Given the description of an element on the screen output the (x, y) to click on. 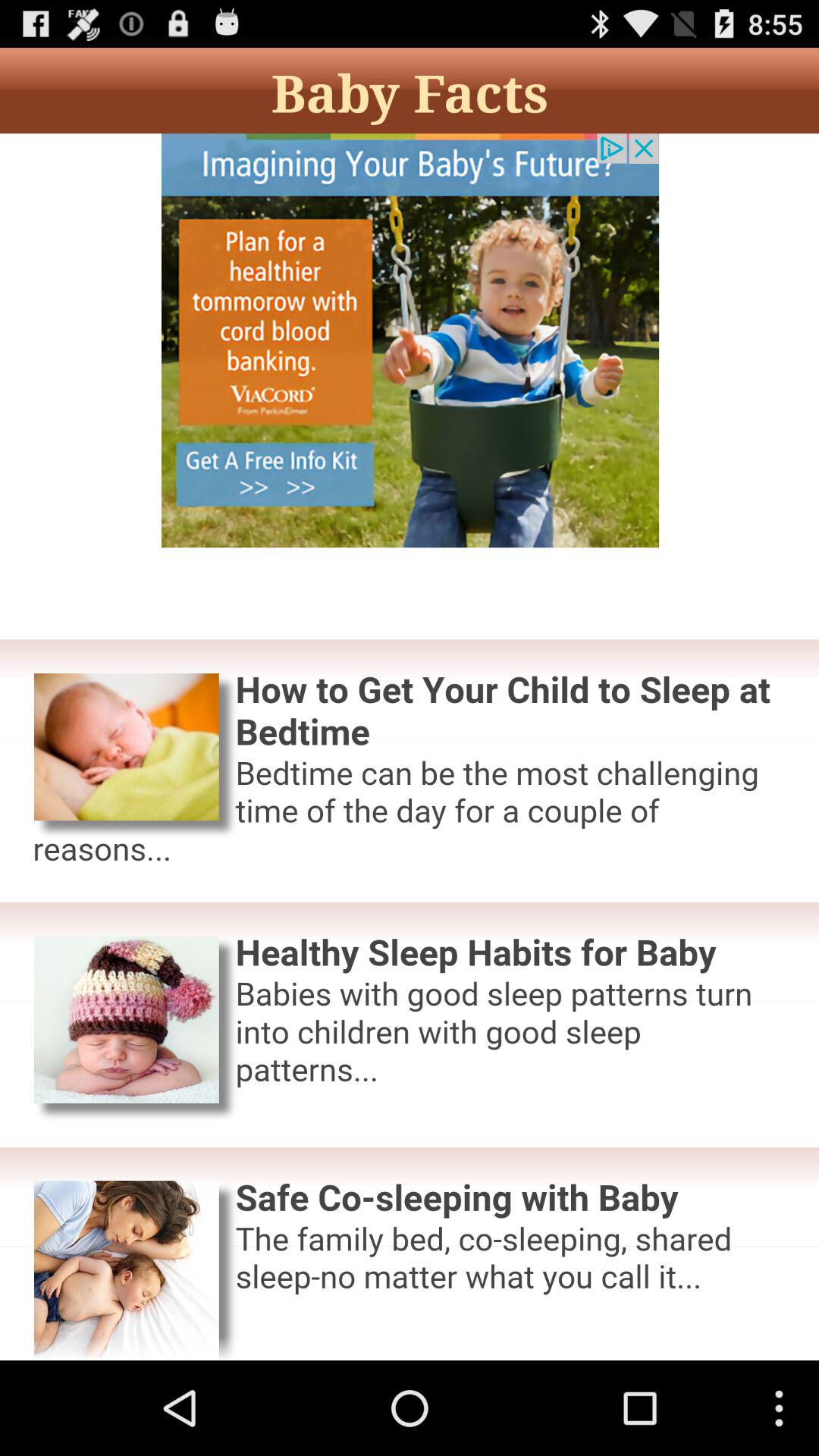
advertisement top short articles bottom (409, 746)
